Given the description of an element on the screen output the (x, y) to click on. 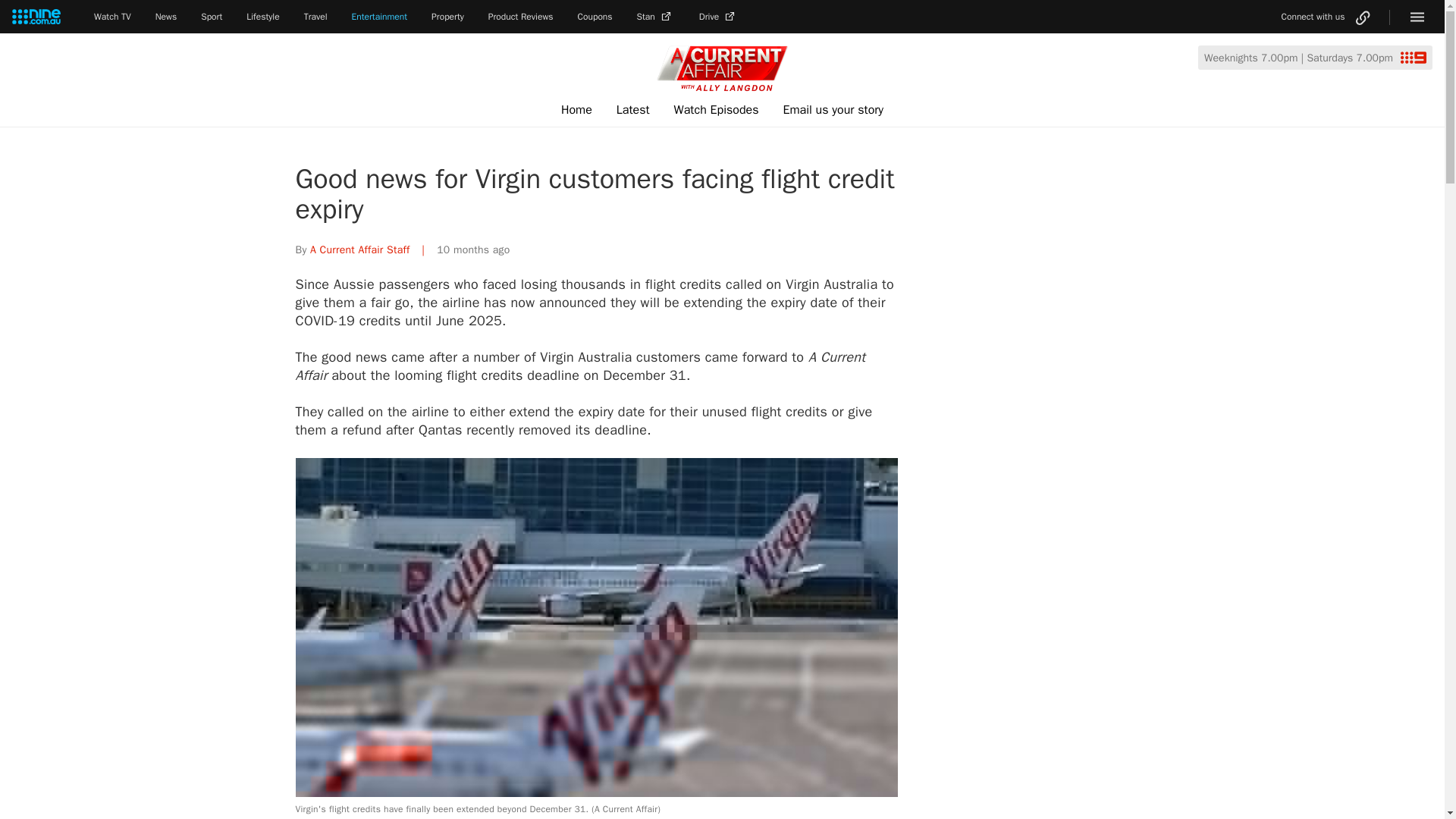
Property (447, 16)
Product Reviews (520, 16)
A Current Affair Staff (359, 249)
Coupons (595, 16)
Drive (718, 16)
Home (576, 109)
Email us your story (832, 109)
Watch Episodes (716, 109)
Stan (656, 16)
Lifestyle (262, 16)
